Given the description of an element on the screen output the (x, y) to click on. 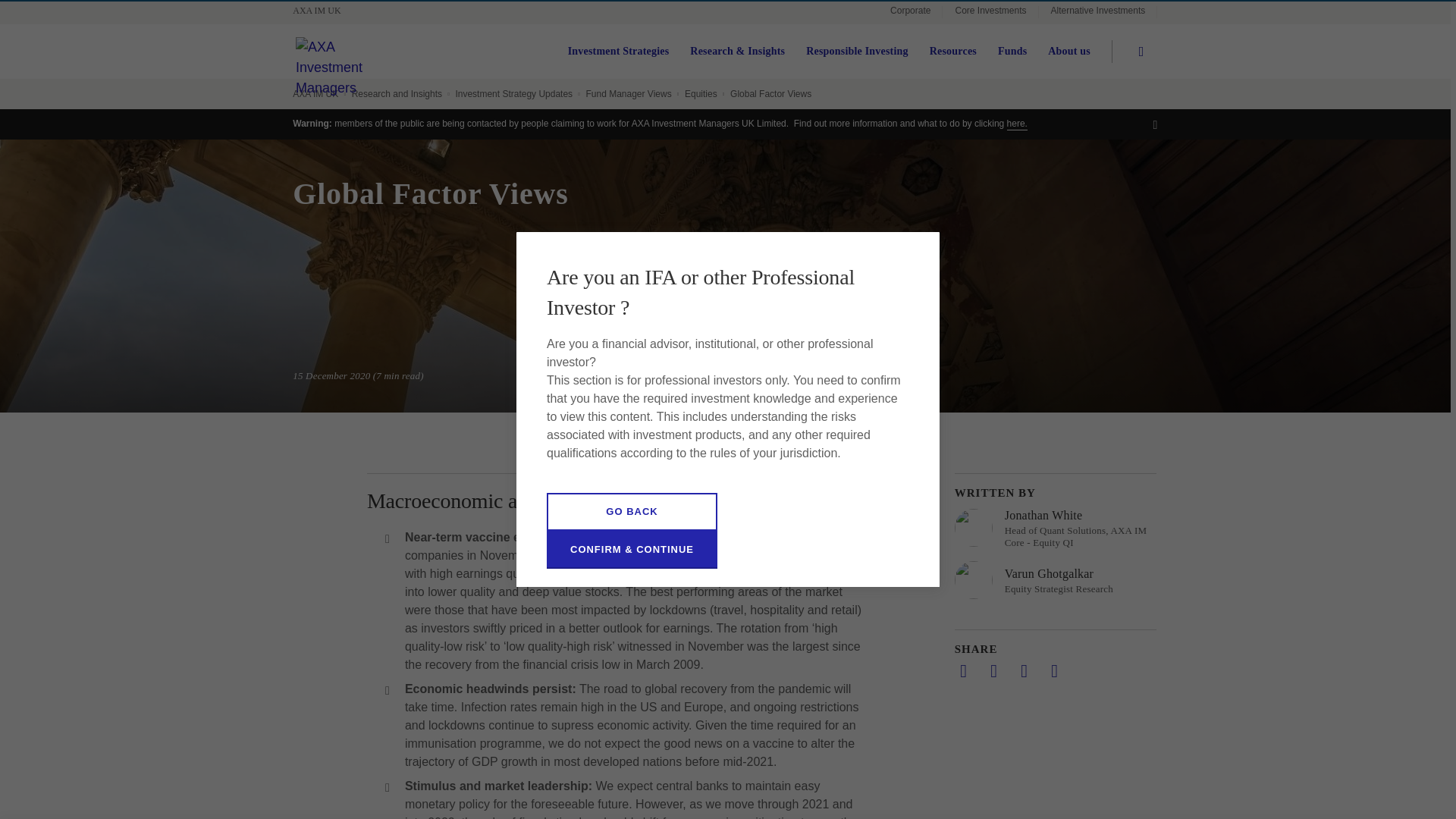
Share on LinkedIn - New window (963, 670)
GO BACK (632, 511)
Copy URL (1054, 670)
AXA IM UK, Home (323, 10)
View biography (1056, 527)
Shared by mail (1023, 670)
 Protect Yourself From Fraud - New window (1017, 123)
Investment Strategies (618, 51)
AXA IM UK (323, 10)
Corporate (909, 12)
